Given the description of an element on the screen output the (x, y) to click on. 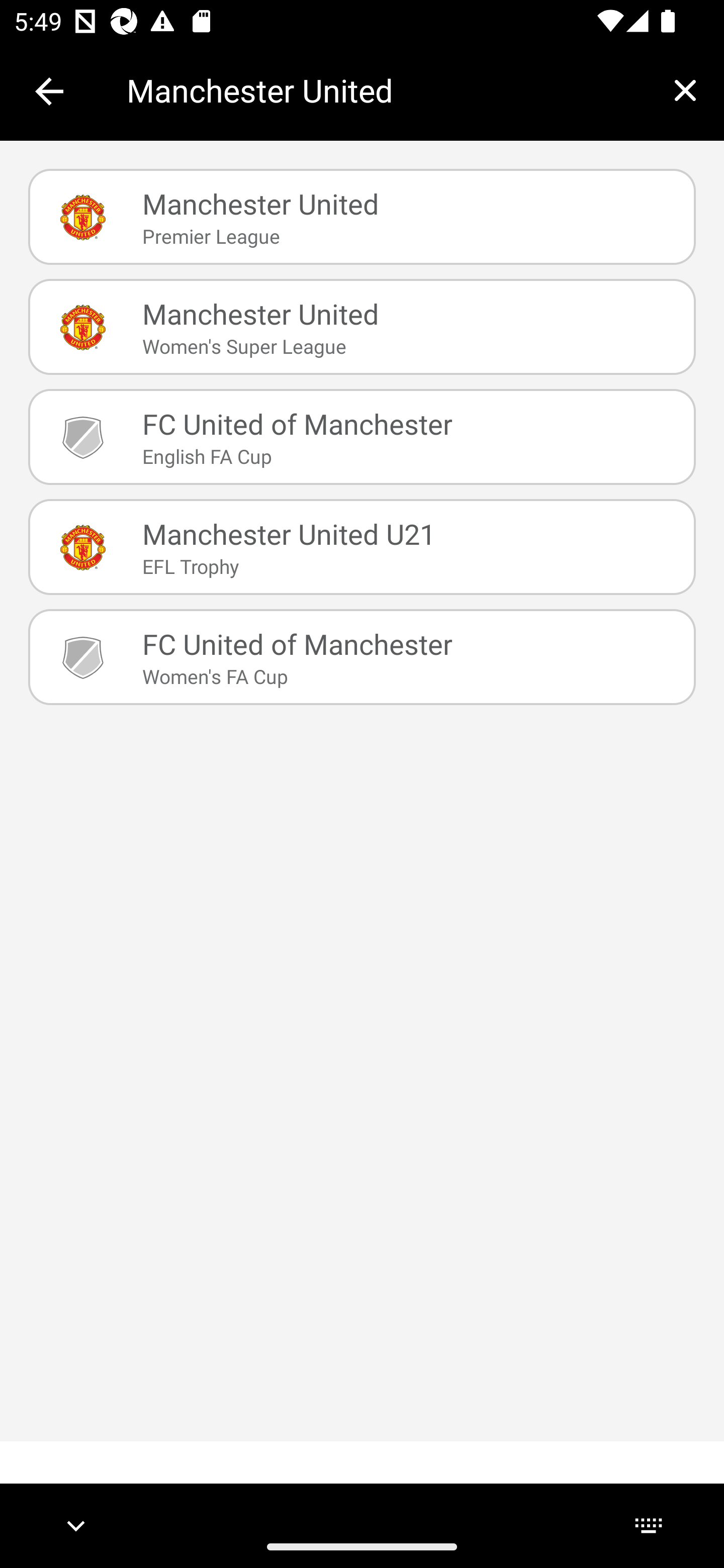
Collapse (49, 91)
Clear query (685, 89)
Manchester United (386, 90)
Manchester United Premier League (361, 216)
Manchester United Women's Super League (361, 326)
FC United of Manchester English FA Cup (361, 436)
Manchester United U21 EFL Trophy (361, 546)
FC United of Manchester Women's FA Cup (361, 656)
